Given the description of an element on the screen output the (x, y) to click on. 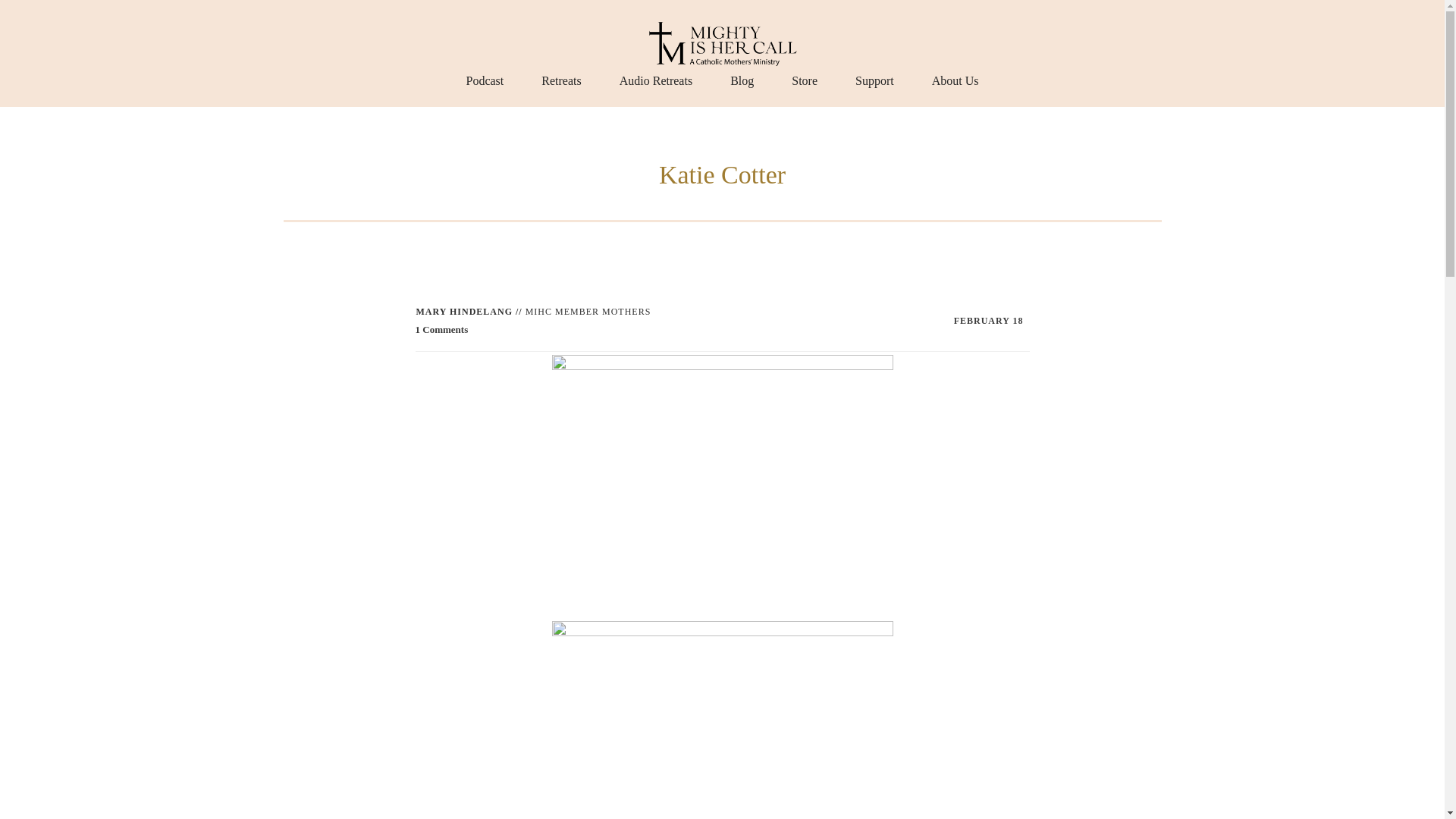
Blog (742, 80)
MIHC Member Mothers (587, 311)
About Us (954, 80)
Retreats (560, 80)
Audio Retreats (656, 80)
MIHC MEMBER MOTHERS (587, 311)
Store (804, 80)
Podcast (484, 80)
Support (874, 80)
